Given the description of an element on the screen output the (x, y) to click on. 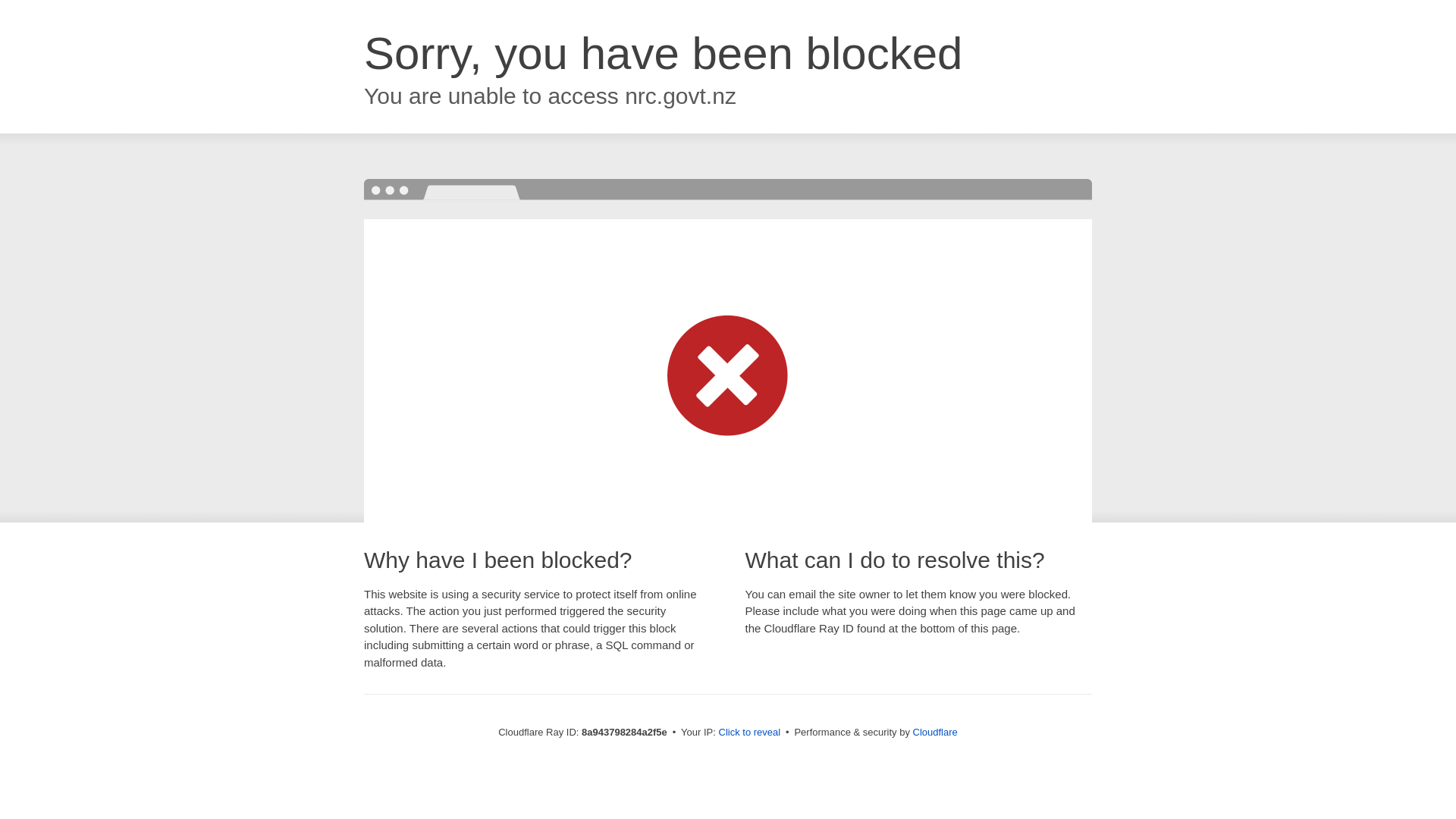
Cloudflare (935, 731)
Click to reveal (749, 732)
